Given the description of an element on the screen output the (x, y) to click on. 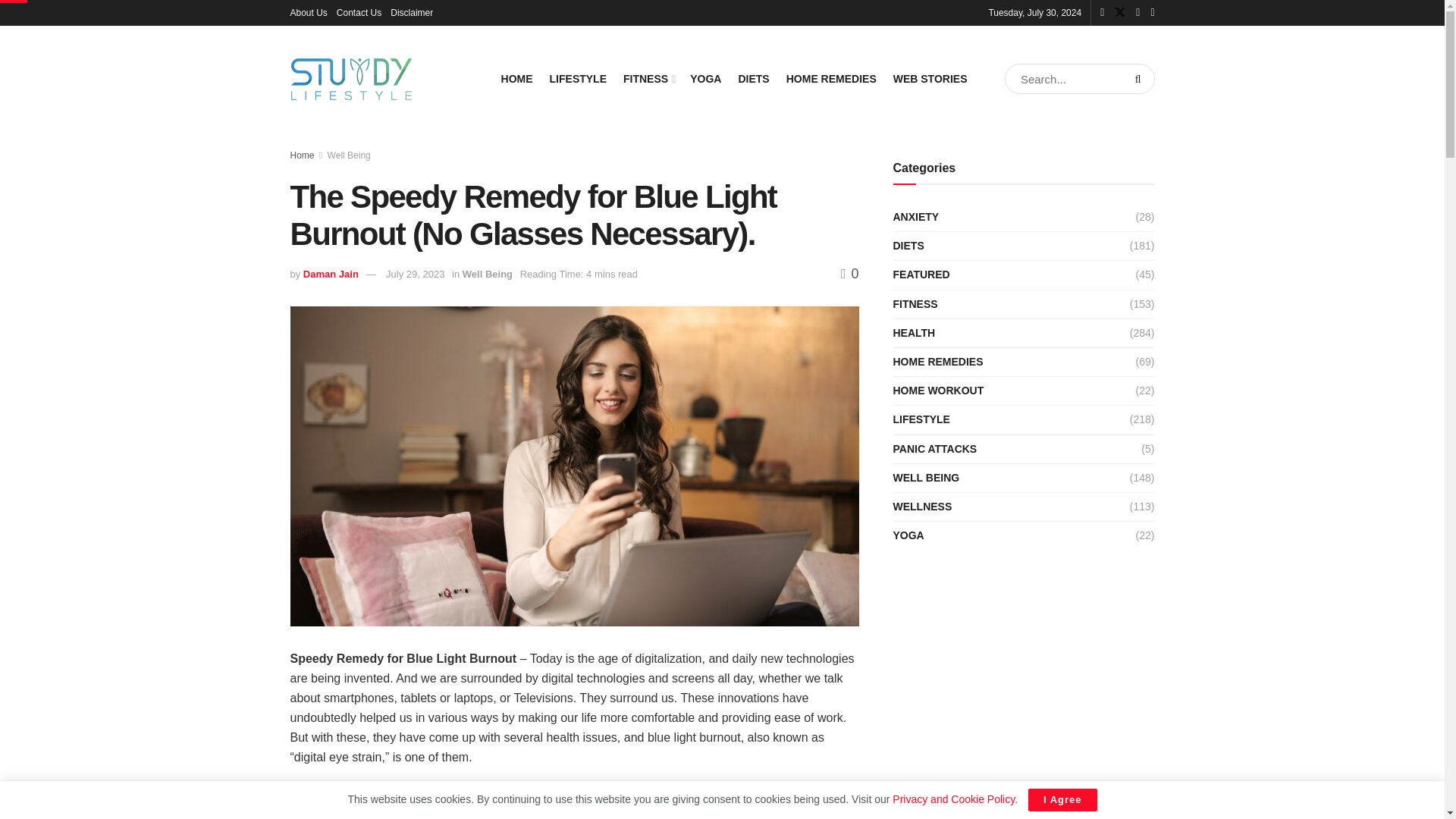
WEB STORIES (930, 78)
About Us (307, 12)
FITNESS (647, 78)
YOGA (705, 78)
HOME REMEDIES (831, 78)
Advertisement (574, 800)
Disclaimer (411, 12)
DIETS (753, 78)
LIFESTYLE (578, 78)
Contact Us (358, 12)
HOME (516, 78)
